Given the description of an element on the screen output the (x, y) to click on. 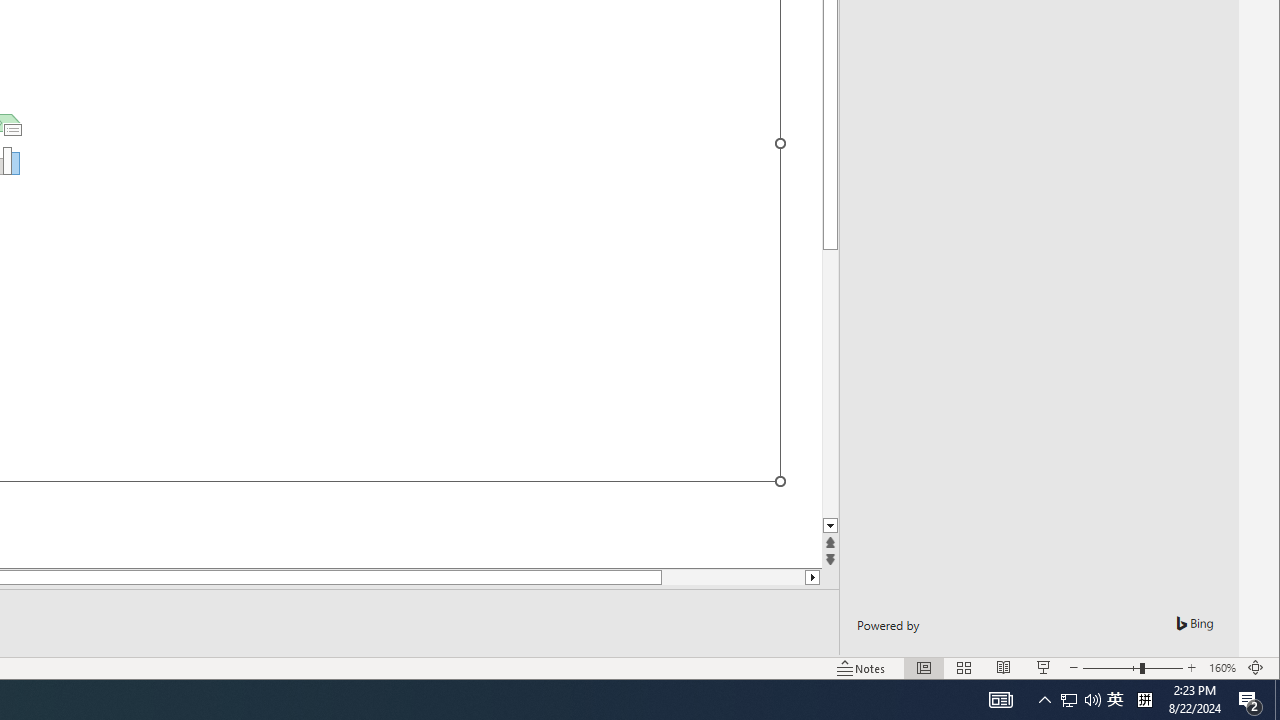
Zoom 160% (1222, 668)
